Given the description of an element on the screen output the (x, y) to click on. 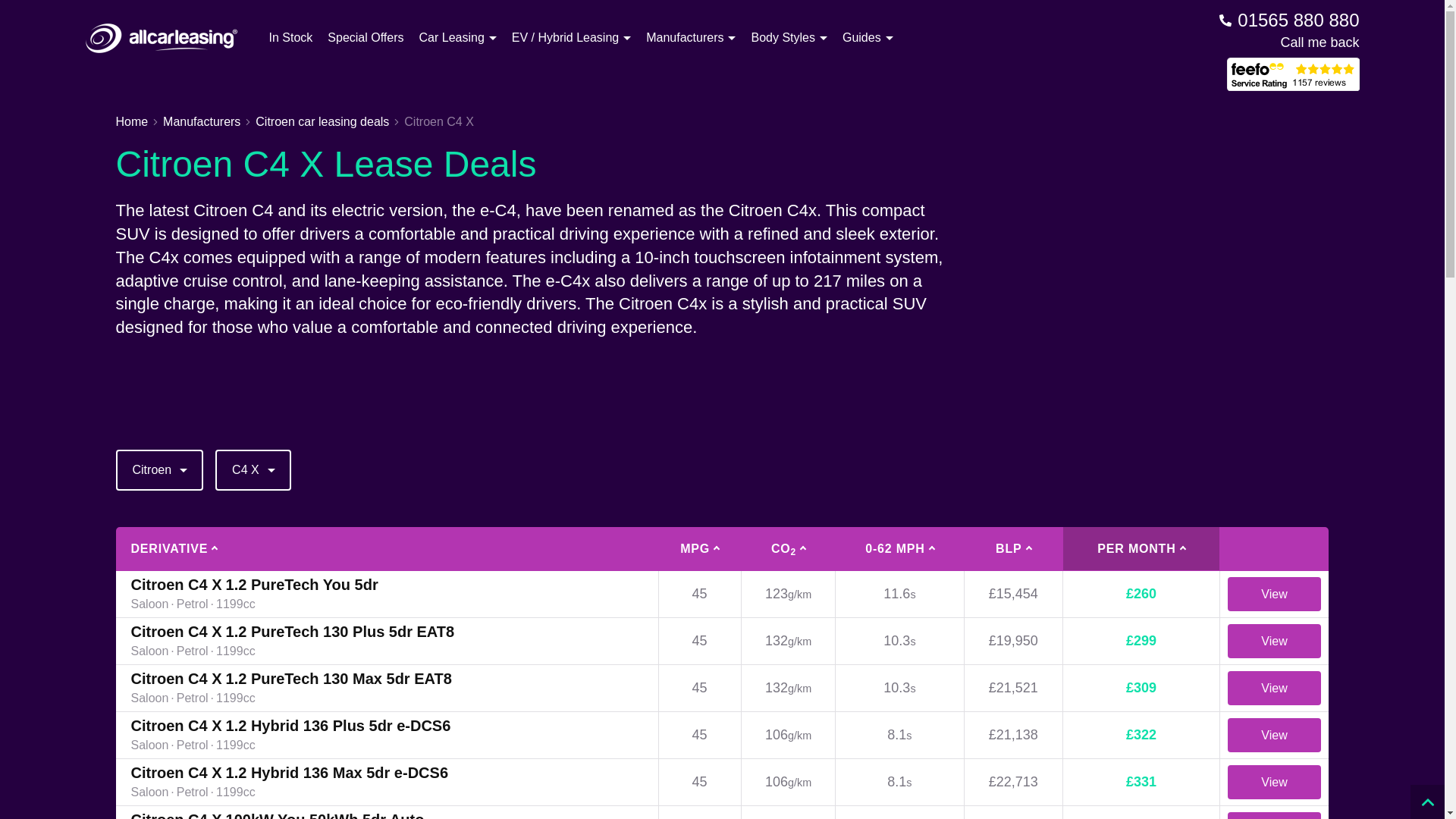
In Stock (290, 37)
See what our customers say about us (1293, 73)
Special Offers (365, 37)
